Given the description of an element on the screen output the (x, y) to click on. 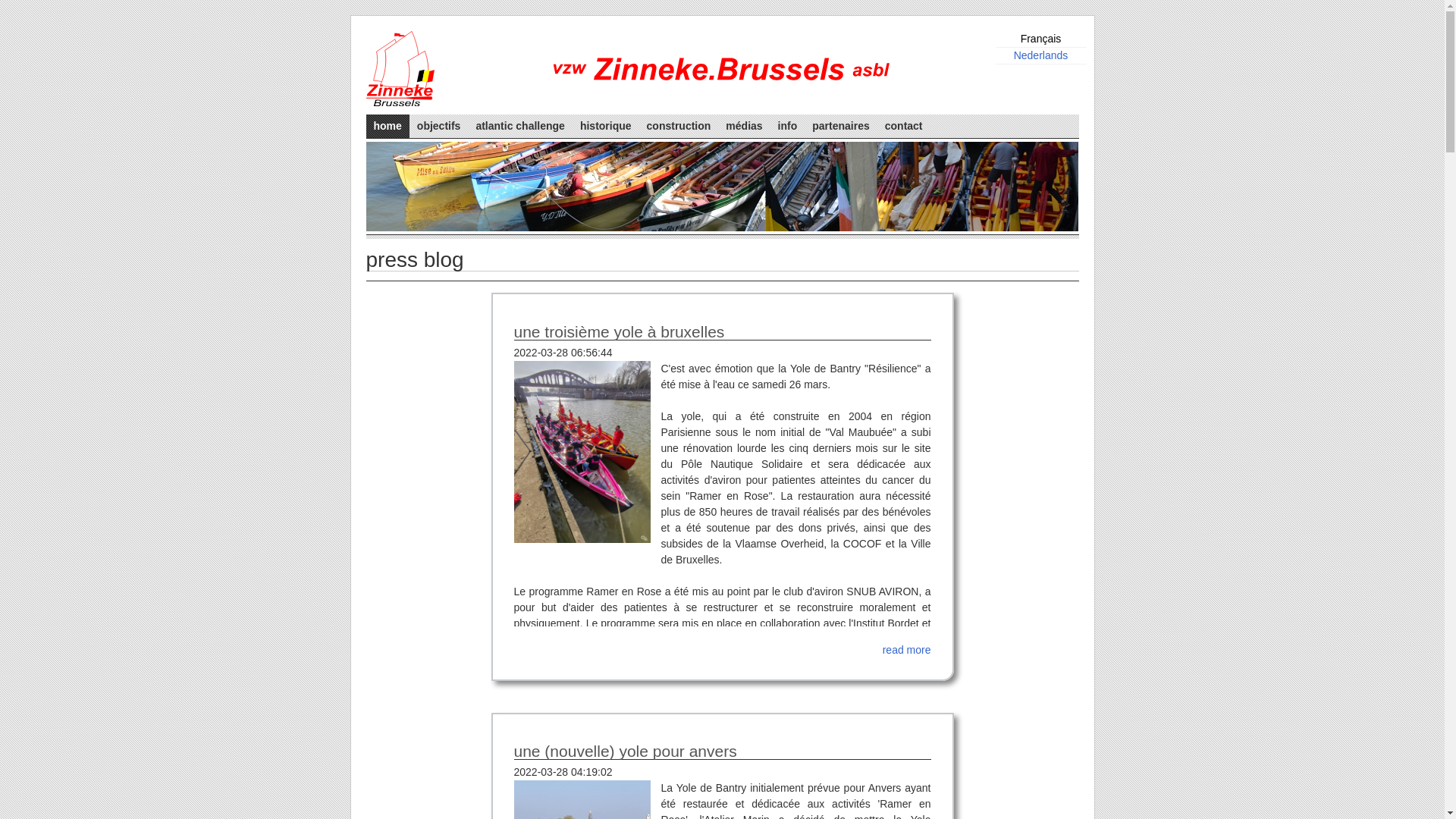
atlantic challenge Element type: text (519, 126)
home Element type: text (386, 126)
construction Element type: text (678, 126)
contact Element type: text (903, 126)
historique Element type: text (605, 126)
partenaires Element type: text (840, 126)
une (nouvelle) yole pour anvers Element type: text (722, 760)
objectifs Element type: text (438, 126)
info Element type: text (787, 126)
Nederlands Element type: text (1040, 55)
read more Element type: text (906, 649)
